Given the description of an element on the screen output the (x, y) to click on. 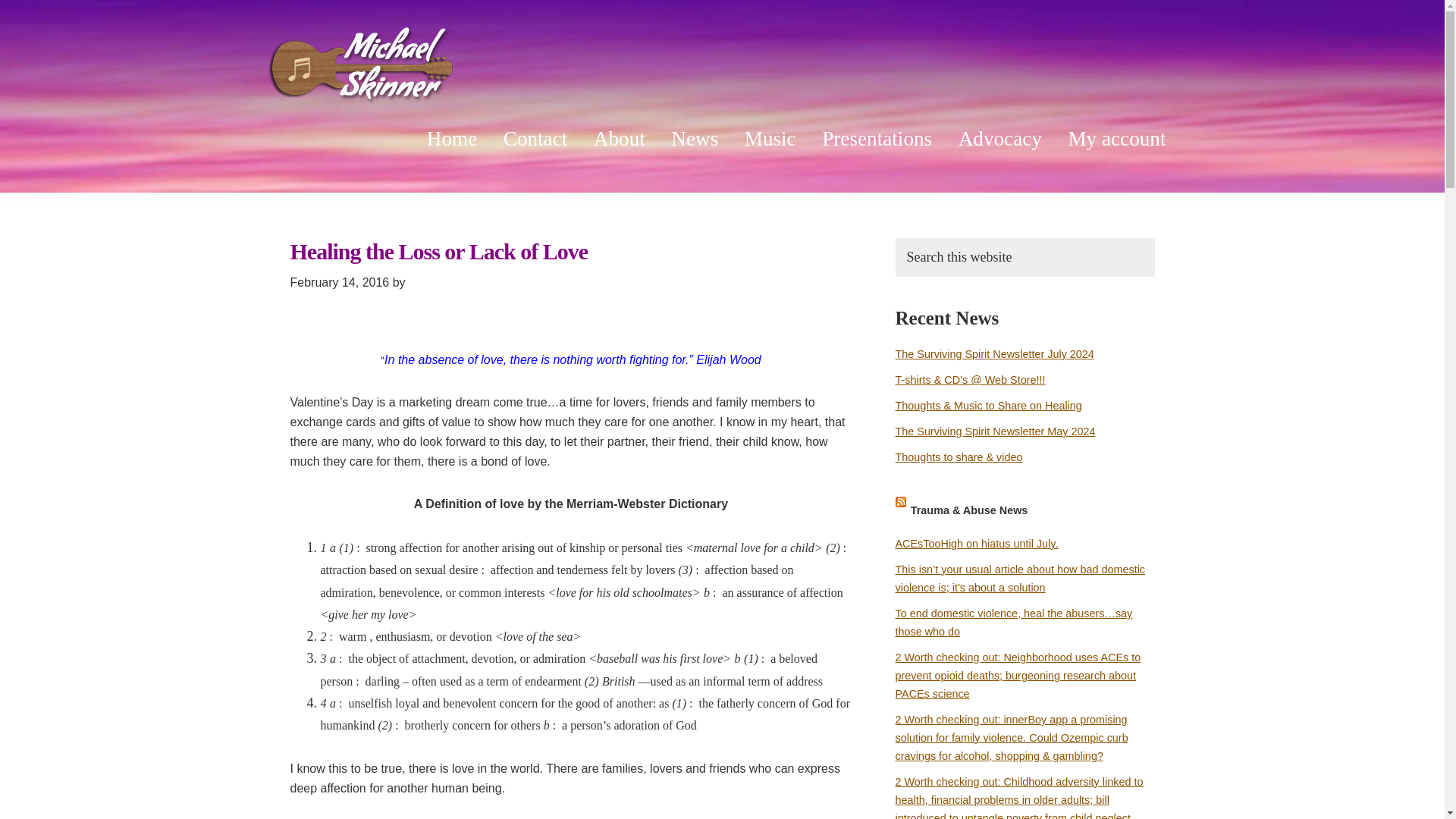
About (619, 138)
Music (770, 138)
My account (1116, 138)
Home (450, 138)
Advocacy (999, 138)
Presentations (876, 138)
News (694, 138)
Contact (535, 138)
